Given the description of an element on the screen output the (x, y) to click on. 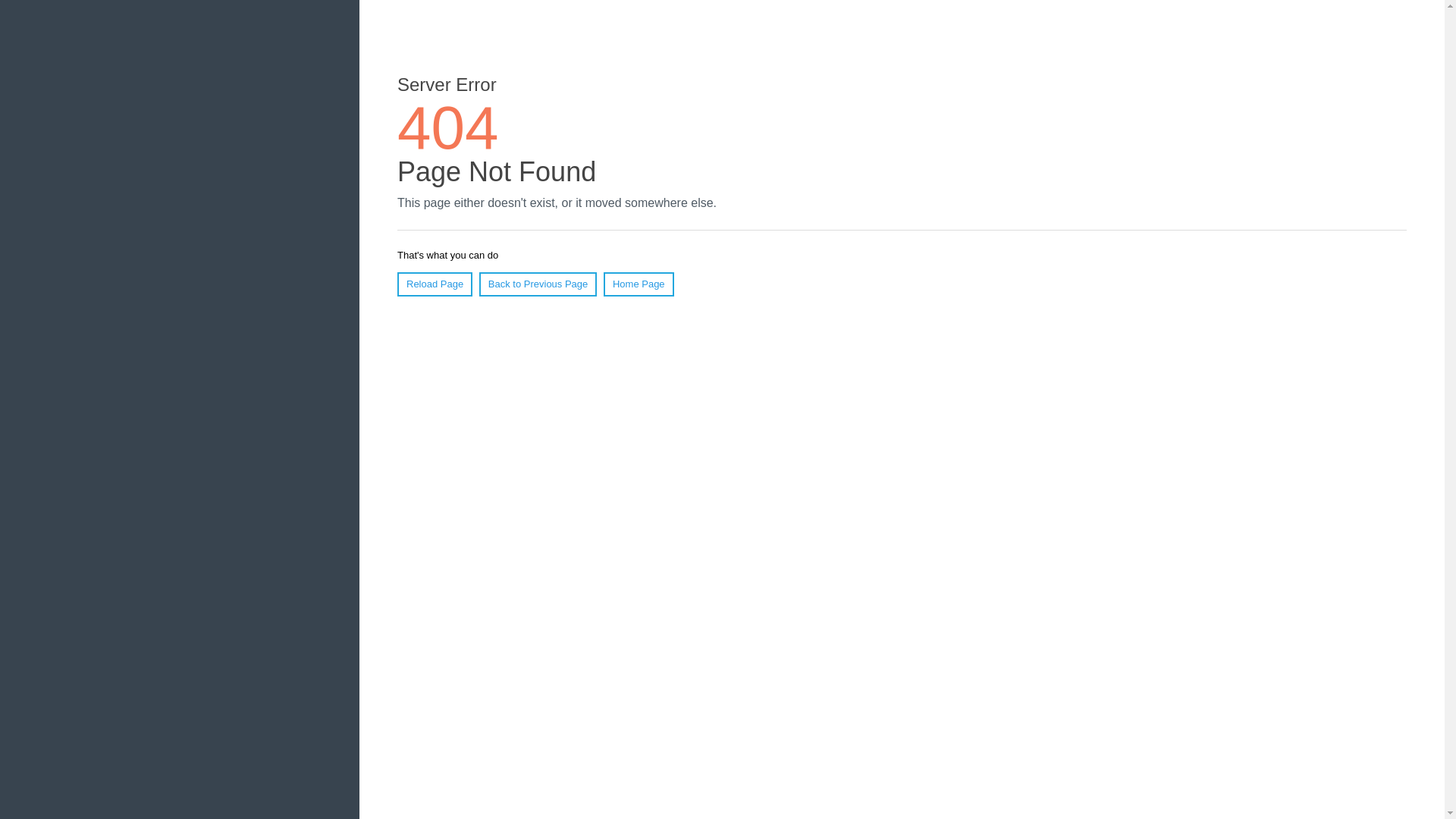
Back to Previous Page (537, 283)
Reload Page (434, 283)
Home Page (639, 283)
